Given the description of an element on the screen output the (x, y) to click on. 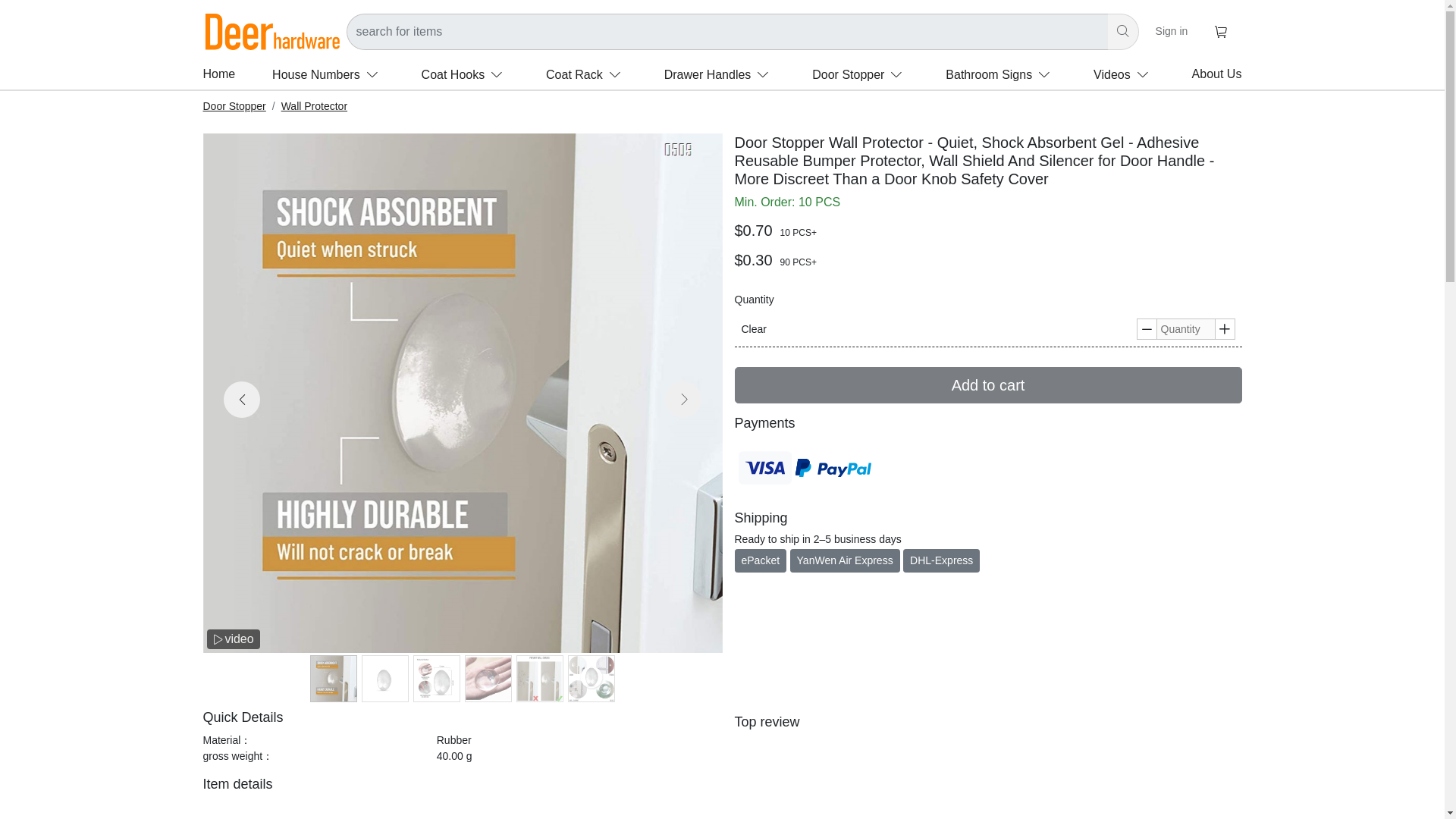
Drawer Handles (719, 74)
Sign in (1171, 31)
Coat Hooks (465, 74)
Home (219, 74)
Coat Rack (586, 74)
Sign in (1171, 30)
House Numbers (328, 74)
